Given the description of an element on the screen output the (x, y) to click on. 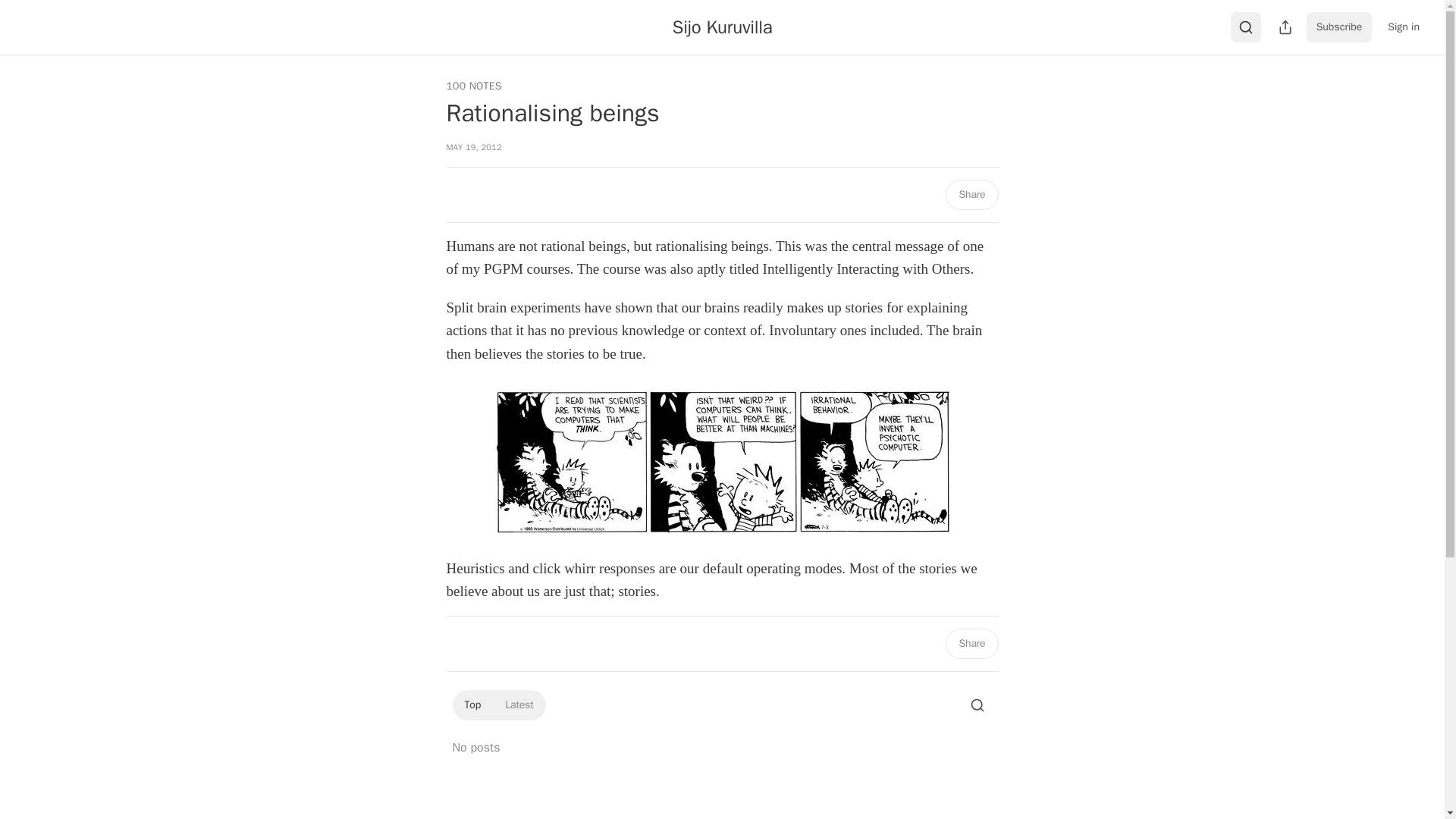
Sijo Kuruvilla (722, 26)
Subscribe (1339, 27)
Share (970, 194)
Top (471, 704)
100 NOTES (472, 86)
Sign in (1403, 27)
Share (970, 643)
Latest (518, 704)
